Given the description of an element on the screen output the (x, y) to click on. 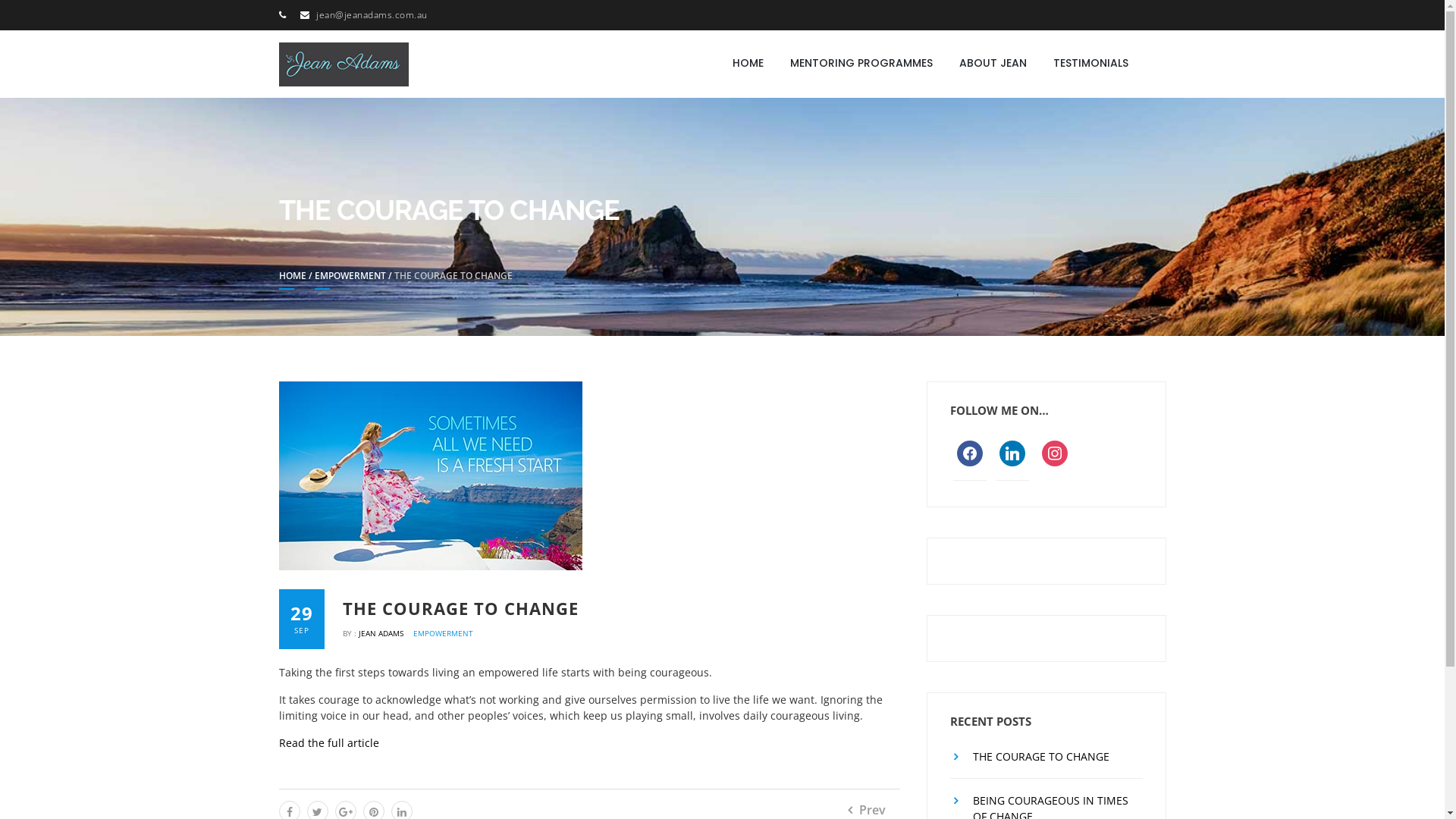
FACEBOOK Element type: text (969, 452)
ABOUT JEAN Element type: text (992, 62)
EMPOWERMENT Element type: text (349, 279)
TESTIMONIALS Element type: text (1090, 62)
JEAN ADAMS Element type: text (477, 51)
LINKEDIN Element type: text (1012, 452)
THE COURAGE TO CHANGE Element type: text (1031, 756)
EMPOWERMENT Element type: text (443, 632)
JEAN ADAMS Element type: text (381, 632)
INSTAGRAM Element type: text (1054, 452)
HOME Element type: text (292, 279)
HOME Element type: text (747, 62)
jean@jeanadams.com.au Element type: text (371, 14)
Read the full article Element type: text (329, 742)
MENTORING PROGRAMMES Element type: text (861, 62)
Prev Element type: text (866, 809)
